Given the description of an element on the screen output the (x, y) to click on. 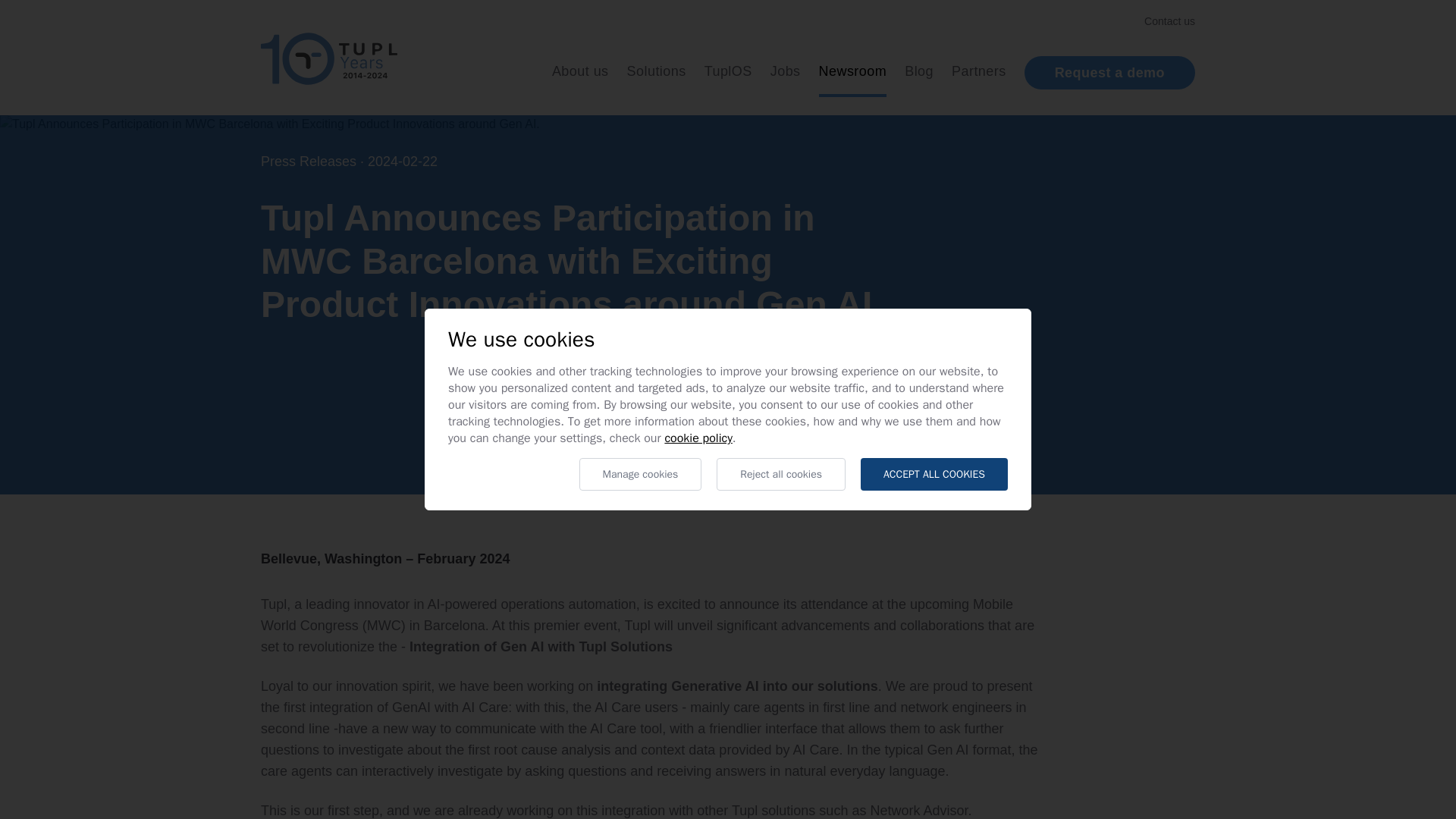
Partners (979, 70)
Solutions (656, 70)
Newsroom (852, 70)
Blog (918, 70)
Contact us (1169, 20)
About us (579, 70)
Jobs (785, 70)
Request a demo (1110, 72)
TuplOS (728, 70)
